Given the description of an element on the screen output the (x, y) to click on. 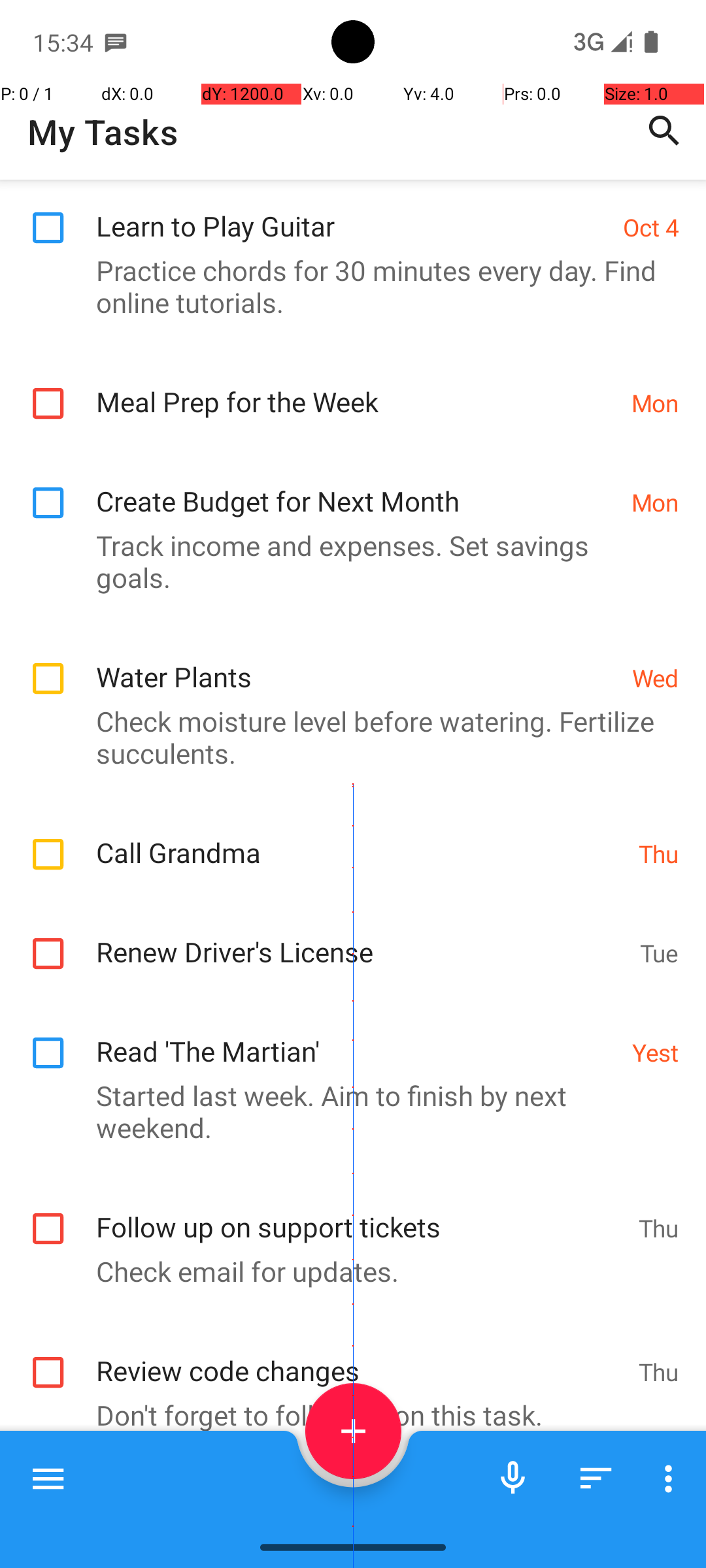
Oct 4 Element type: android.widget.TextView (650, 1232)
Follow up on support tickets Element type: android.widget.TextView (360, 1053)
Check email for updates. Element type: android.widget.TextView (346, 1111)
Review code changes Element type: android.widget.TextView (360, 1197)
Don't forget to follow up on this task. Element type: android.widget.TextView (346, 1255)
